Given the description of an element on the screen output the (x, y) to click on. 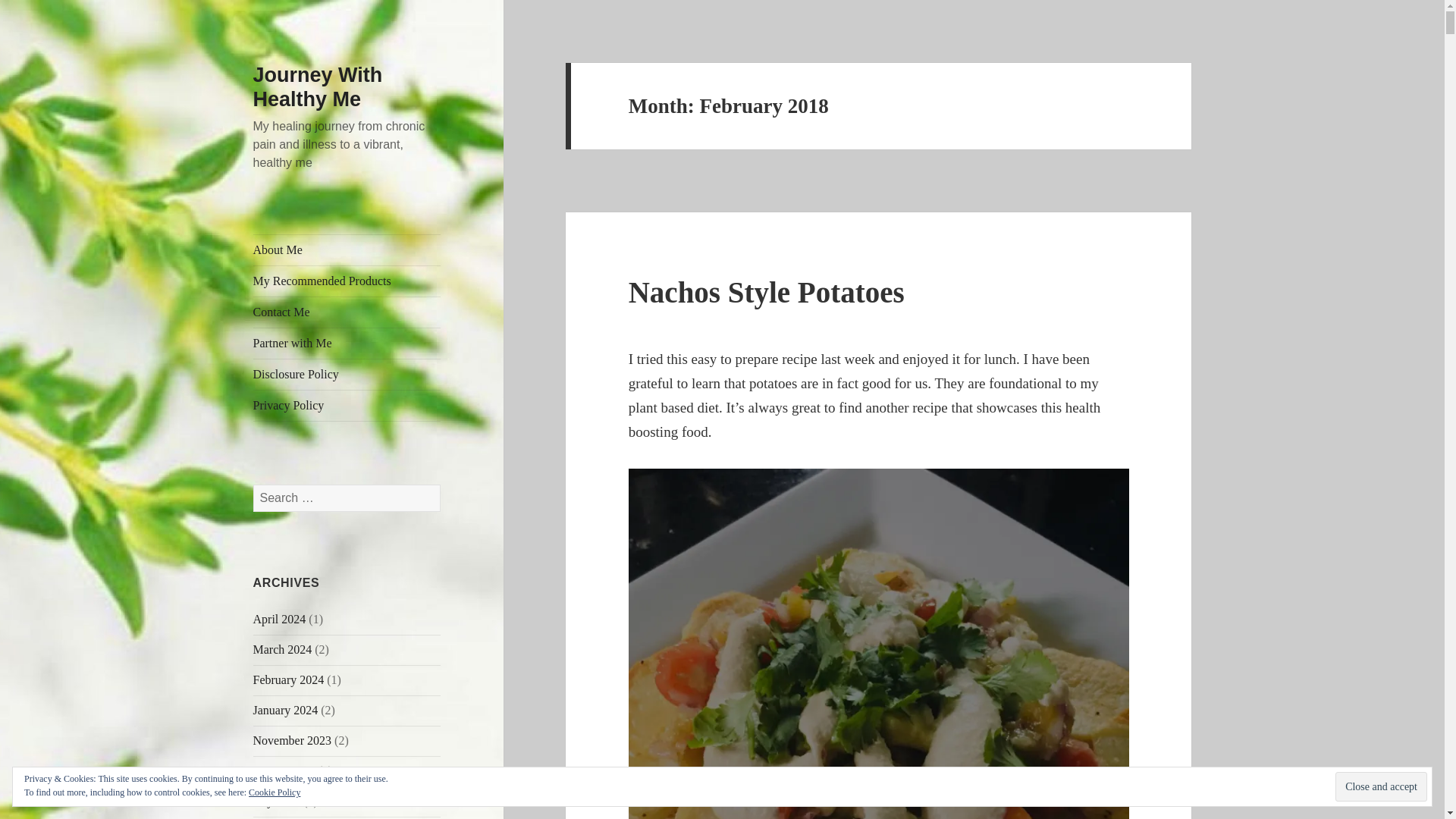
Journey With Healthy Me (317, 86)
April 2024 (279, 618)
August 2023 (284, 770)
About Me (347, 250)
March 2024 (283, 649)
February 2024 (288, 679)
November 2023 (292, 739)
January 2024 (285, 709)
Disclosure Policy (347, 374)
Close and accept (1380, 786)
July 2023 (277, 800)
Contact Me (347, 312)
